Given the description of an element on the screen output the (x, y) to click on. 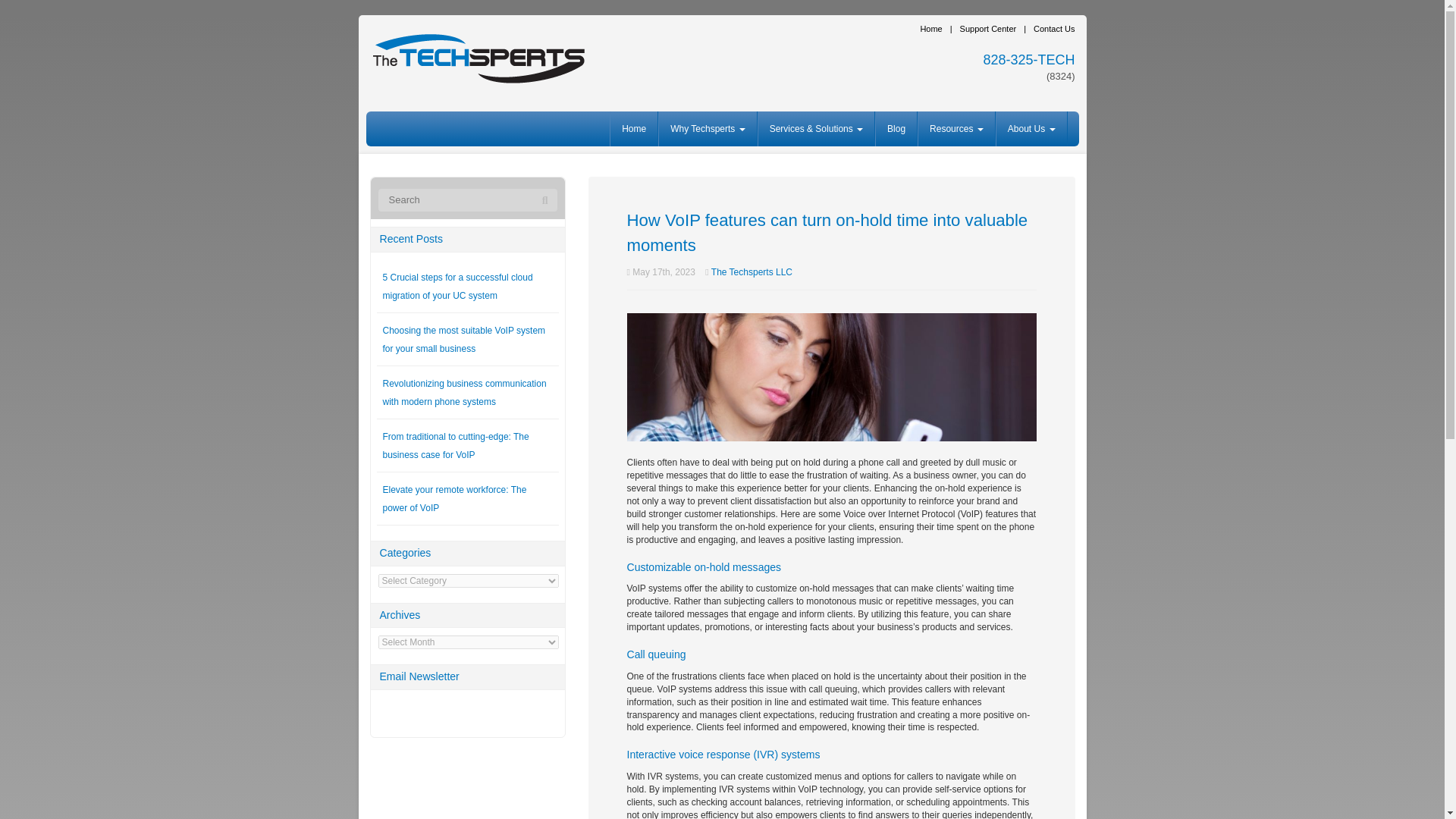
About Us (1031, 128)
Elevate your remote workforce: The power of VoIP (453, 498)
Support Center (983, 28)
From traditional to cutting-edge: The business case for VoIP (454, 445)
Blog (896, 128)
Resources (955, 128)
Contact Us (1048, 28)
The Techsperts LLC (751, 271)
Posts by The Techsperts LLC (751, 271)
Home (634, 128)
Why Techsperts (706, 128)
Search (544, 200)
